Given the description of an element on the screen output the (x, y) to click on. 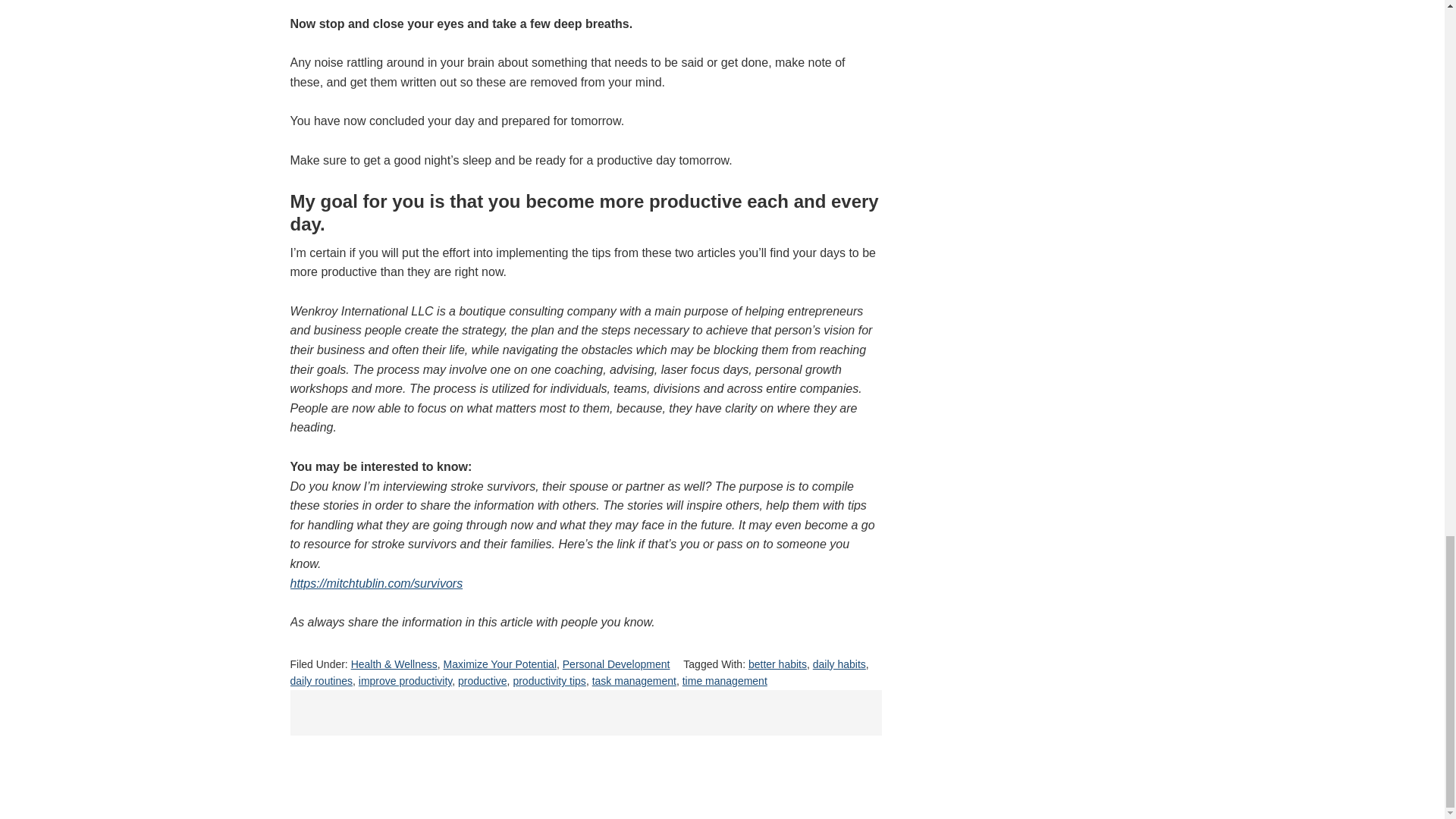
time management (724, 680)
Maximize Your Potential (500, 664)
productive (482, 680)
better habits (777, 664)
task management (634, 680)
improve productivity (404, 680)
productivity tips (548, 680)
daily routines (320, 680)
daily habits (839, 664)
Personal Development (615, 664)
